Given the description of an element on the screen output the (x, y) to click on. 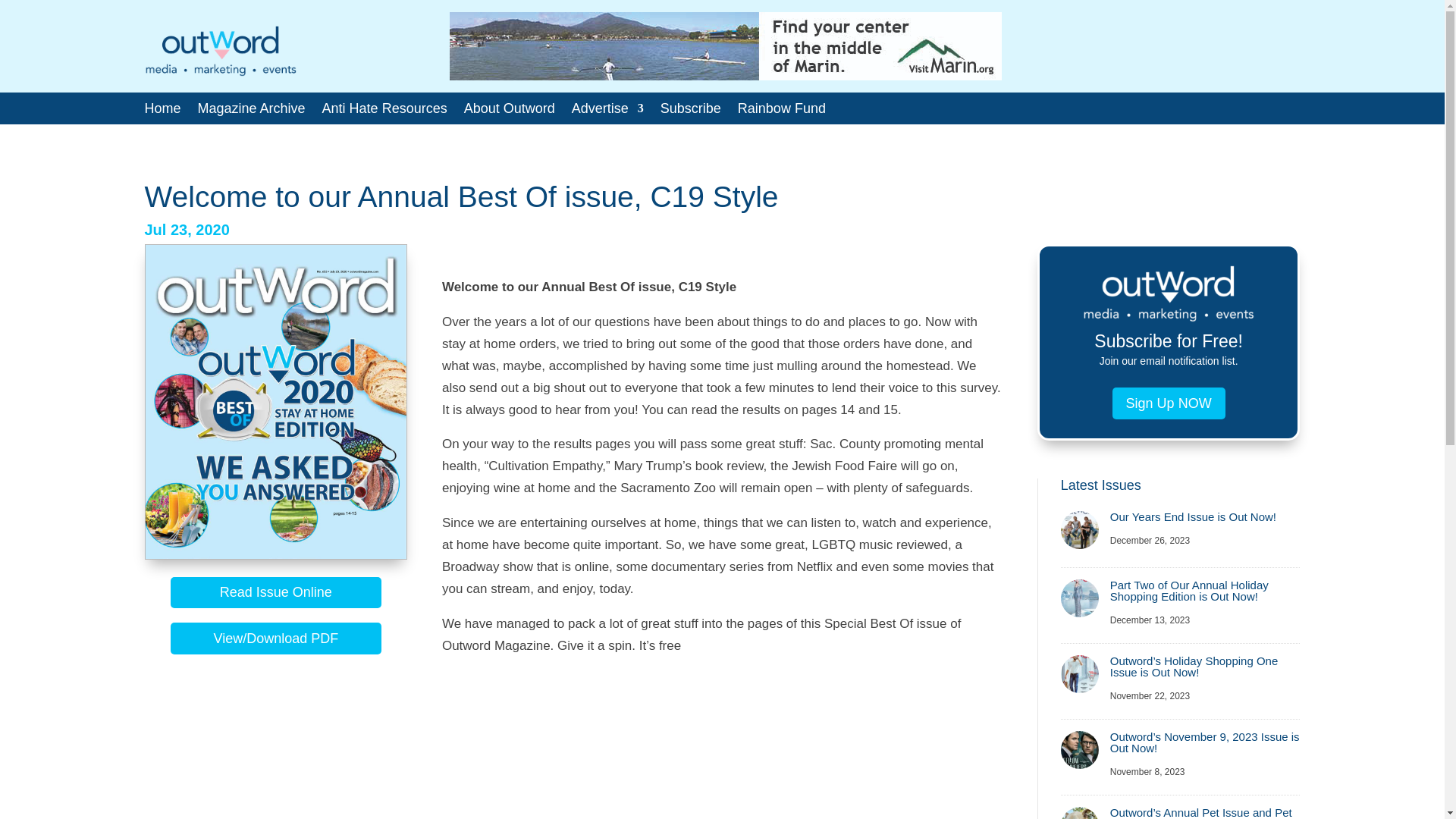
Read Issue Online (275, 592)
Subscribe (690, 111)
Home (162, 111)
Sign Up NOW (1168, 402)
Outword-Logo-970 (219, 50)
Advertise (607, 111)
Anti Hate Resources (383, 111)
Rainbow Fund (781, 111)
Part Two of Our Annual Holiday Shopping Edition is Out Now! (1188, 590)
About Outword (509, 111)
